Given the description of an element on the screen output the (x, y) to click on. 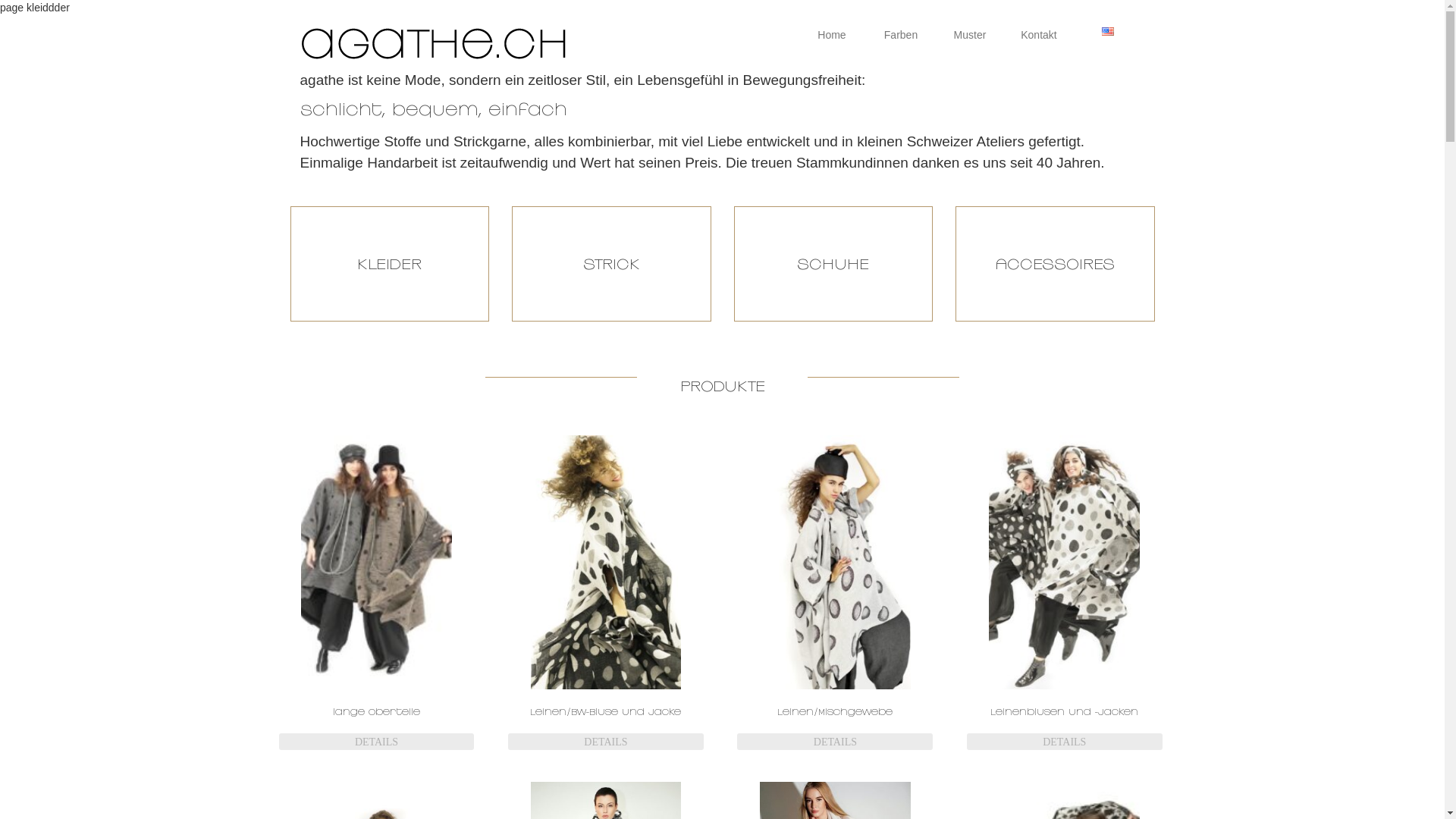
Leinen/Mischgewebe Element type: text (834, 591)
ACCESSOIRES Element type: text (1054, 263)
lange Oberteile Element type: text (376, 591)
Muster Element type: text (969, 34)
Leinenblusen und -Jacken Element type: text (1064, 591)
DETAILS Element type: text (605, 741)
Farben Element type: text (900, 34)
KLEIDER Element type: text (389, 263)
DETAILS Element type: text (376, 741)
Kontakt Element type: text (1038, 34)
DETAILS Element type: text (834, 741)
STRICK Element type: text (611, 263)
Home Element type: text (831, 34)
Leinen/BW-Bluse und Jacke Element type: text (605, 591)
SCHUHE Element type: text (833, 263)
DETAILS Element type: text (1064, 741)
